Given the description of an element on the screen output the (x, y) to click on. 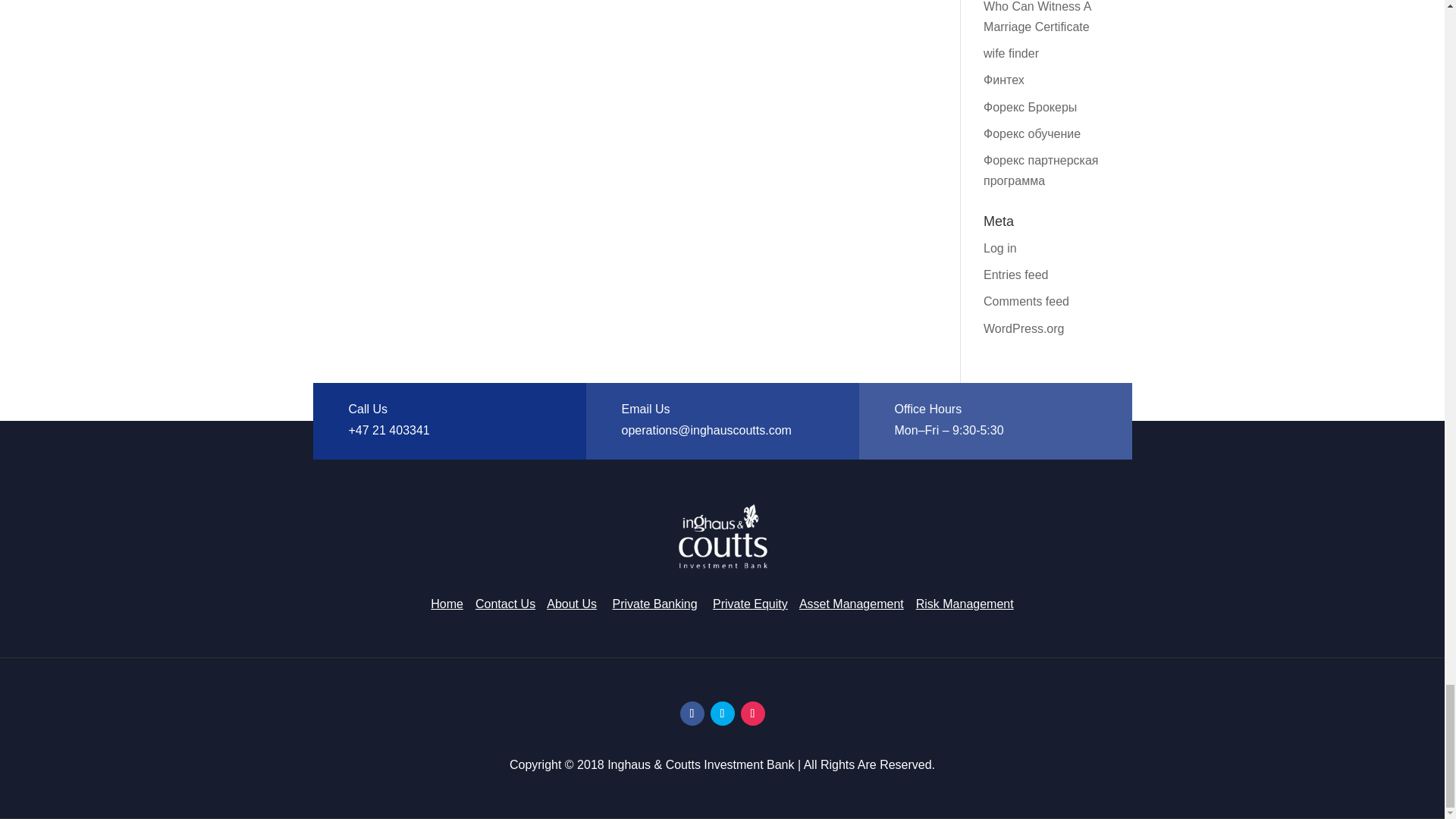
Follow on Instagram (751, 713)
Follow on Twitter (721, 713)
Follow on Facebook (691, 713)
